Given the description of an element on the screen output the (x, y) to click on. 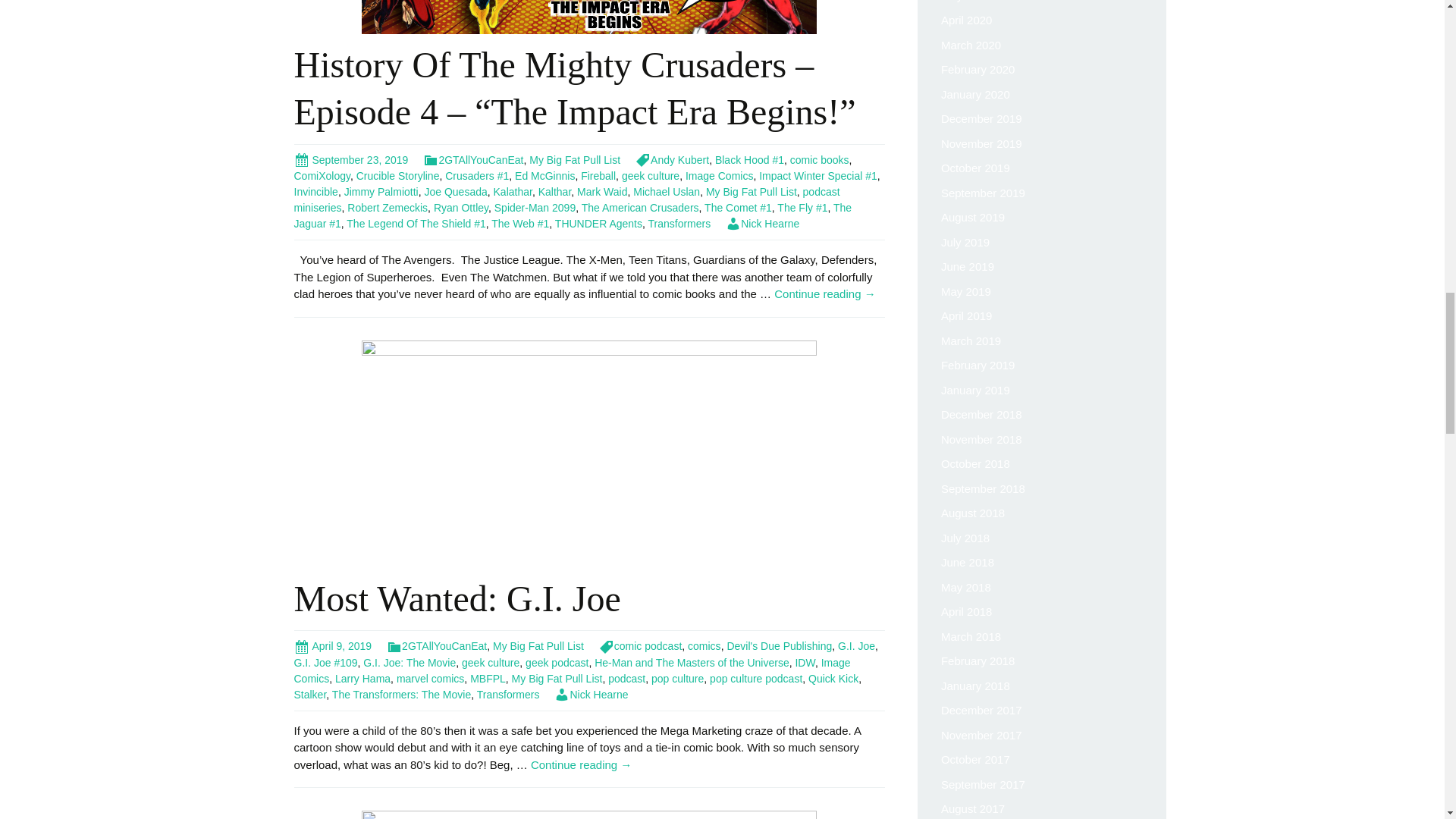
Permalink to Most Wanted: G.I. Joe (333, 645)
View all posts by Nick Hearne (590, 694)
View all posts by Nick Hearne (762, 223)
